Given the description of an element on the screen output the (x, y) to click on. 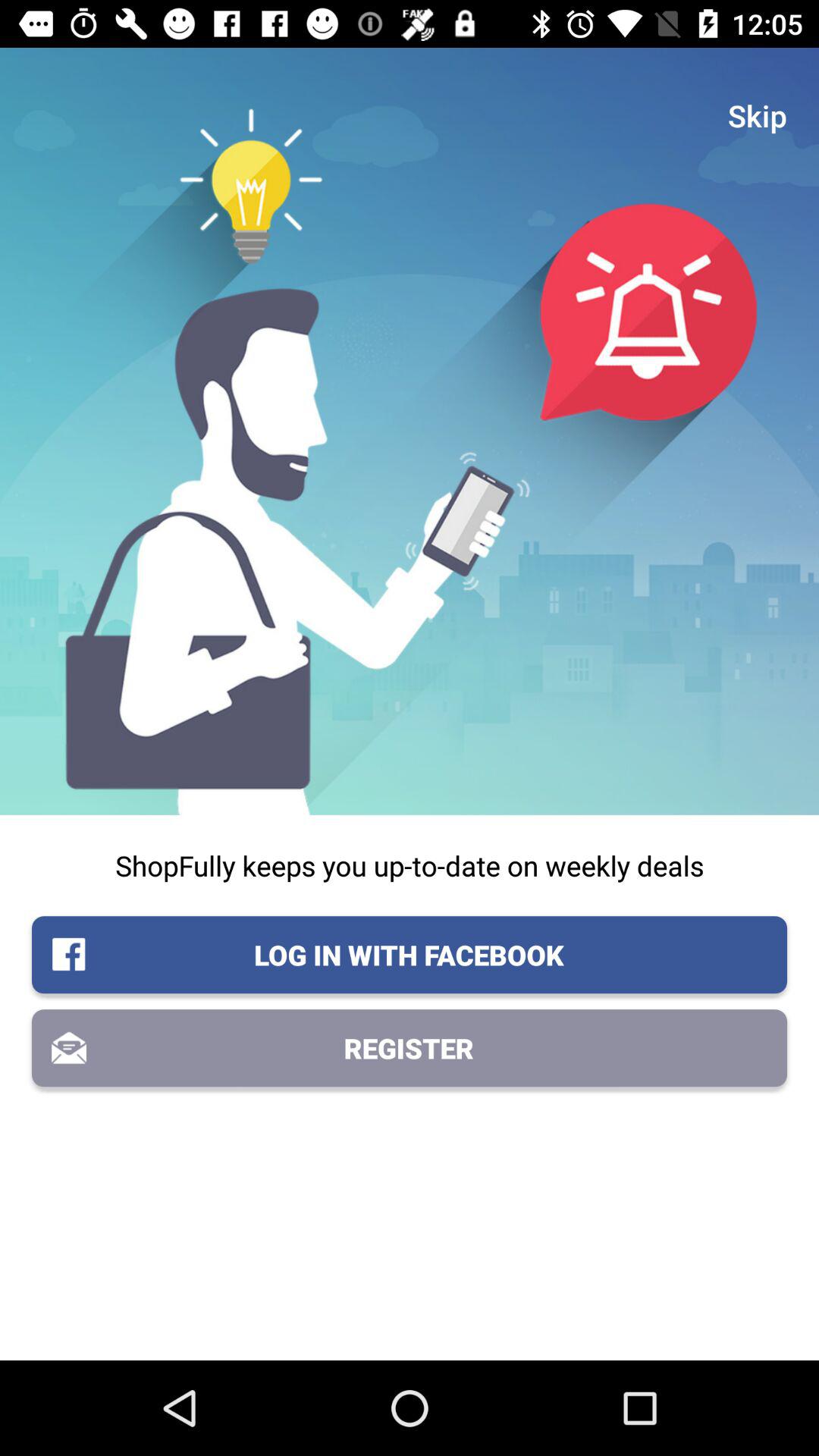
tap register item (409, 1047)
